Given the description of an element on the screen output the (x, y) to click on. 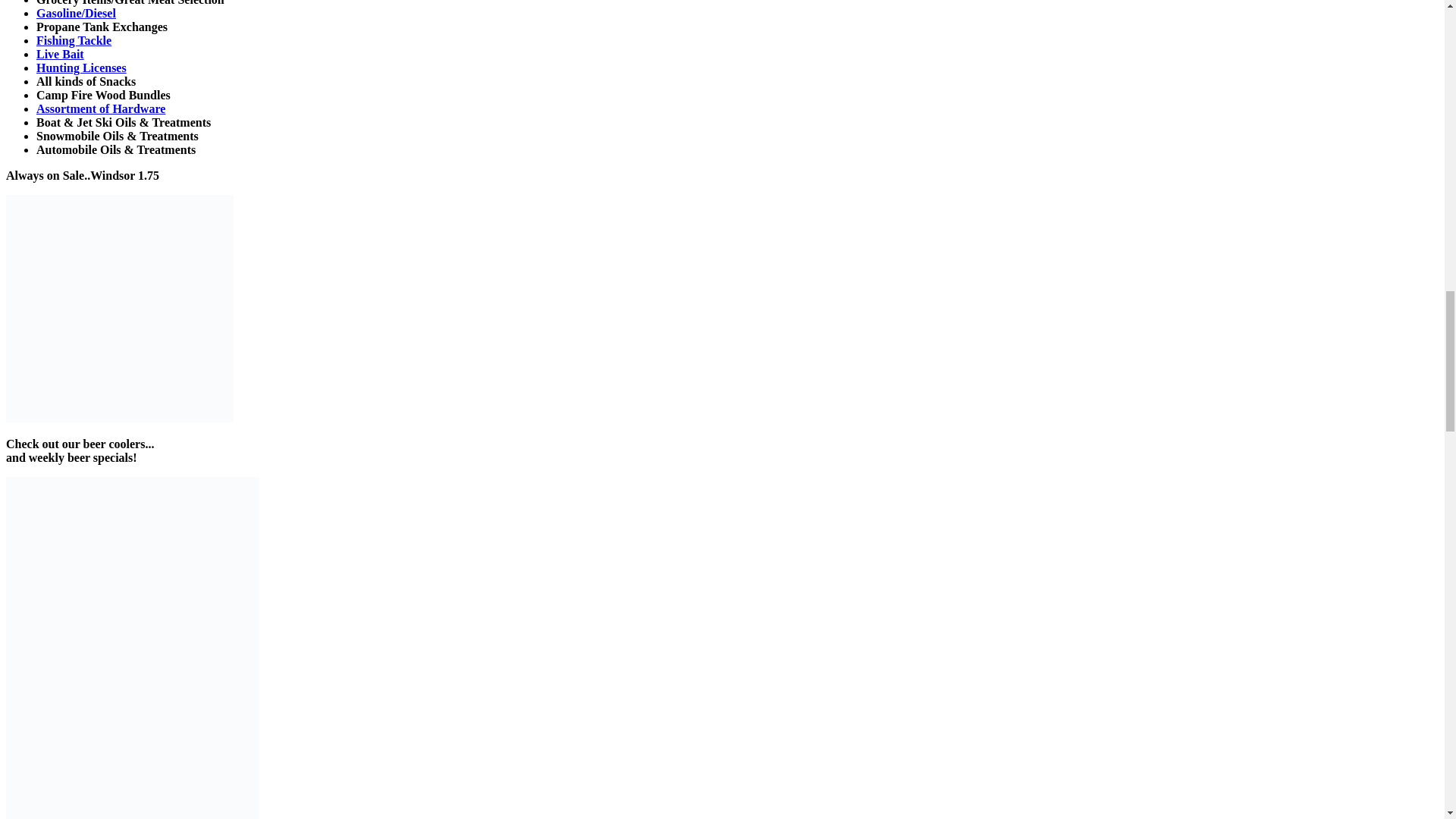
Hardware Store Balsam Lake WI (100, 108)
